Given the description of an element on the screen output the (x, y) to click on. 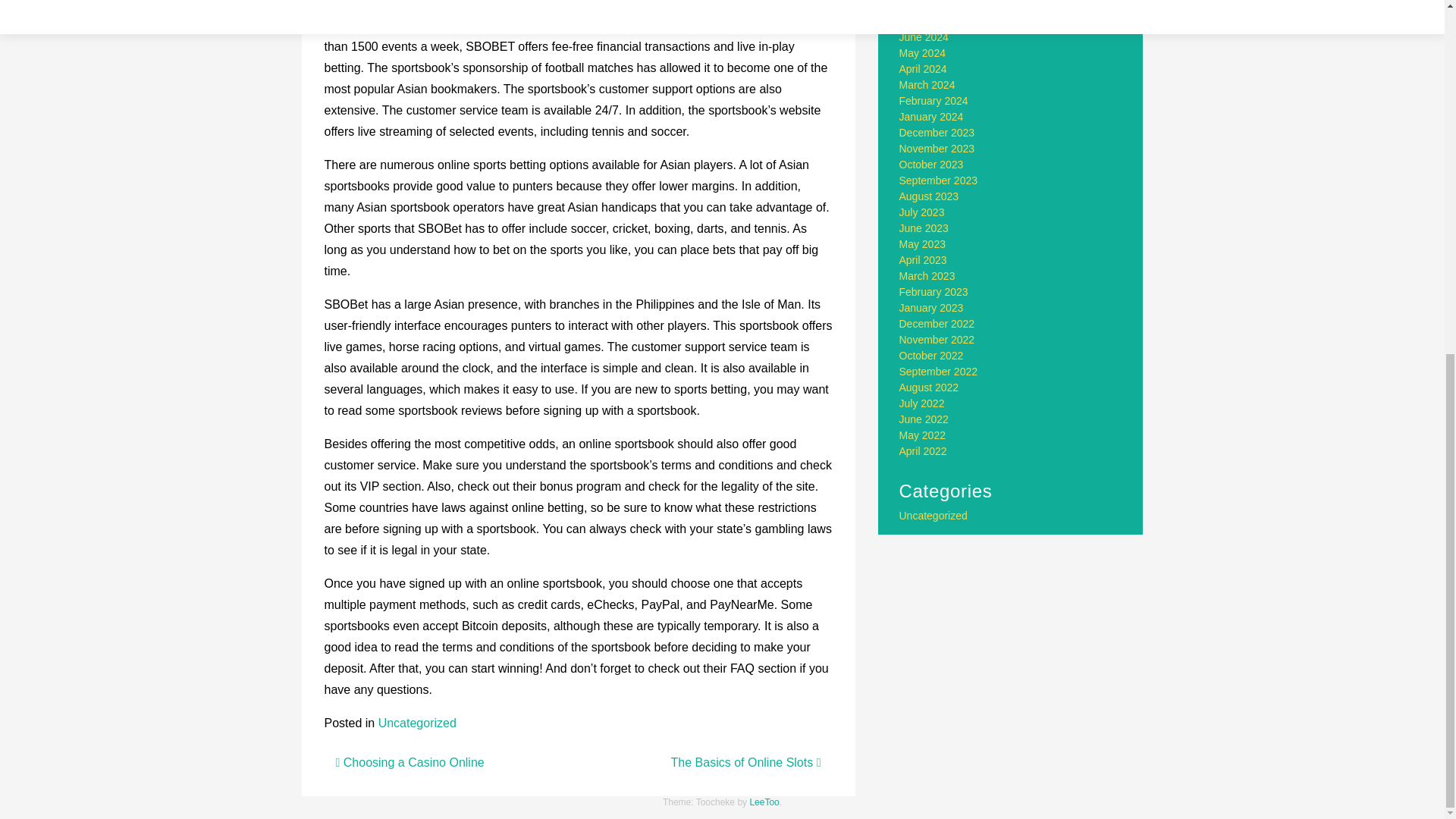
October 2023 (931, 164)
June 2022 (924, 419)
May 2024 (921, 52)
July 2022 (921, 403)
April 2023 (923, 259)
August 2024 (929, 5)
July 2024 (921, 21)
December 2022 (937, 323)
Uncategorized (417, 722)
March 2024 (927, 84)
March 2023 (927, 275)
May 2023 (921, 244)
January 2024 (931, 116)
February 2024 (933, 101)
October 2022 (931, 355)
